Given the description of an element on the screen output the (x, y) to click on. 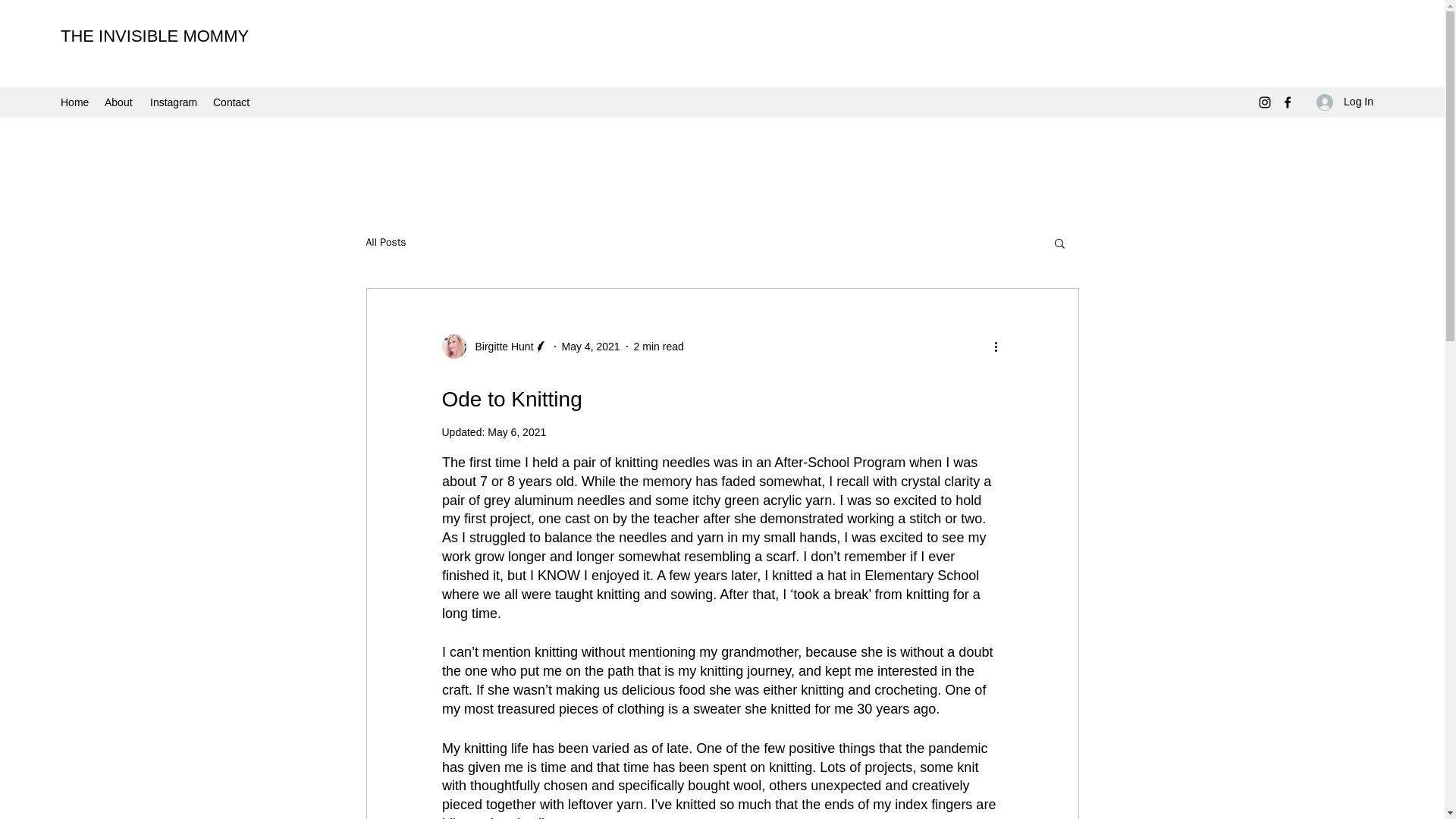
Home (74, 101)
2 min read (658, 345)
Birgitte Hunt (498, 345)
Birgitte Hunt (494, 346)
Instagram (173, 101)
Contact (232, 101)
May 4, 2021 (591, 345)
All Posts (385, 242)
Log In (1345, 101)
May 6, 2021 (516, 431)
About (119, 101)
